Given the description of an element on the screen output the (x, y) to click on. 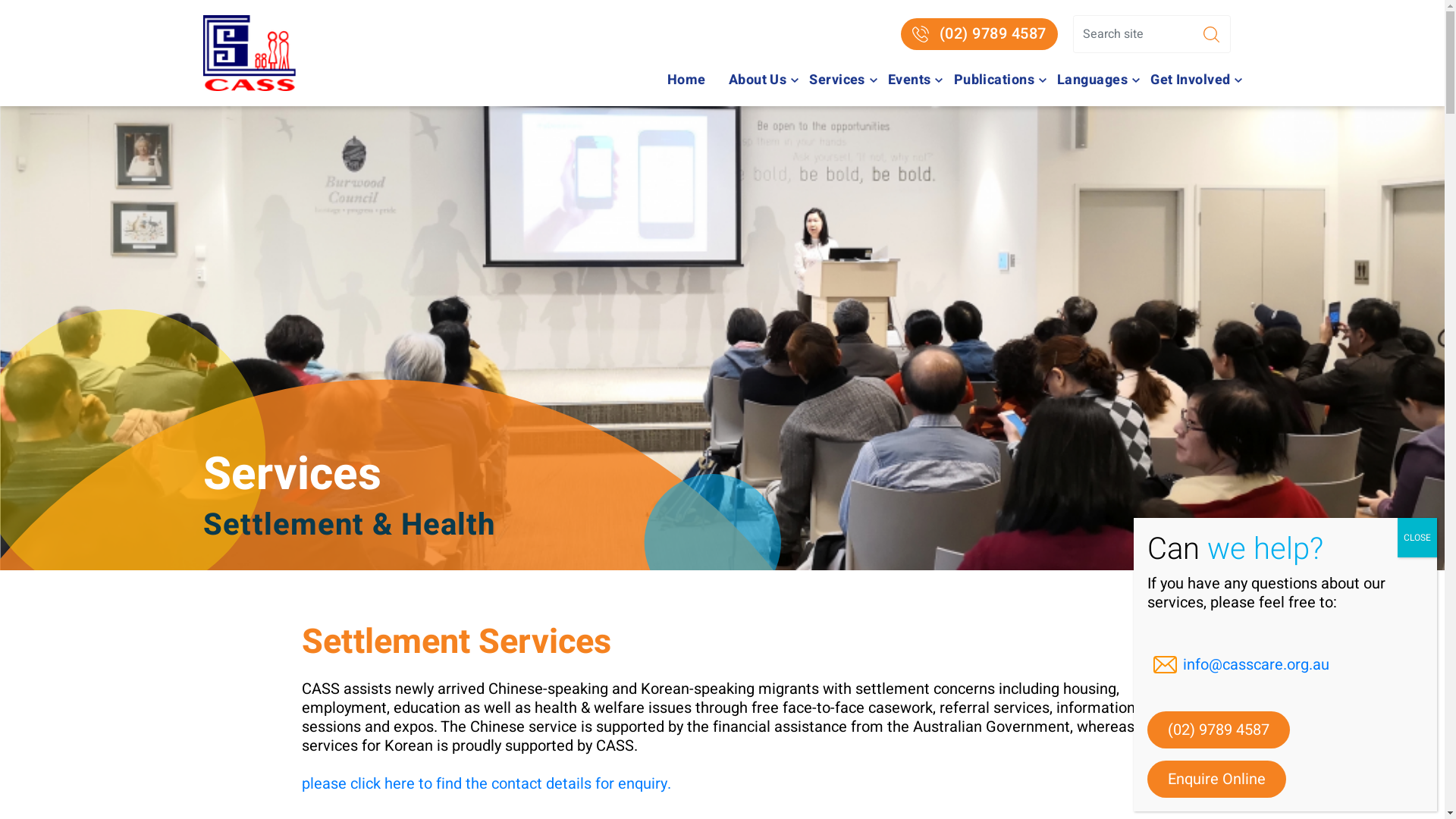
(02) 9789 4587 Element type: text (1218, 729)
Enquire Online Element type: text (1216, 778)
Services Element type: text (836, 80)
info@casscare.org.au Element type: text (1285, 664)
CLOSE Element type: text (1417, 537)
please click here to find the contact details for enquiry. Element type: text (486, 783)
Get Involved Element type: text (1190, 80)
Events Element type: text (909, 80)
Home Element type: text (686, 80)
Languages Element type: text (1092, 80)
(02) 9789 4587 Element type: text (978, 34)
About Us Element type: text (757, 80)
Publications Element type: text (993, 80)
